Given the description of an element on the screen output the (x, y) to click on. 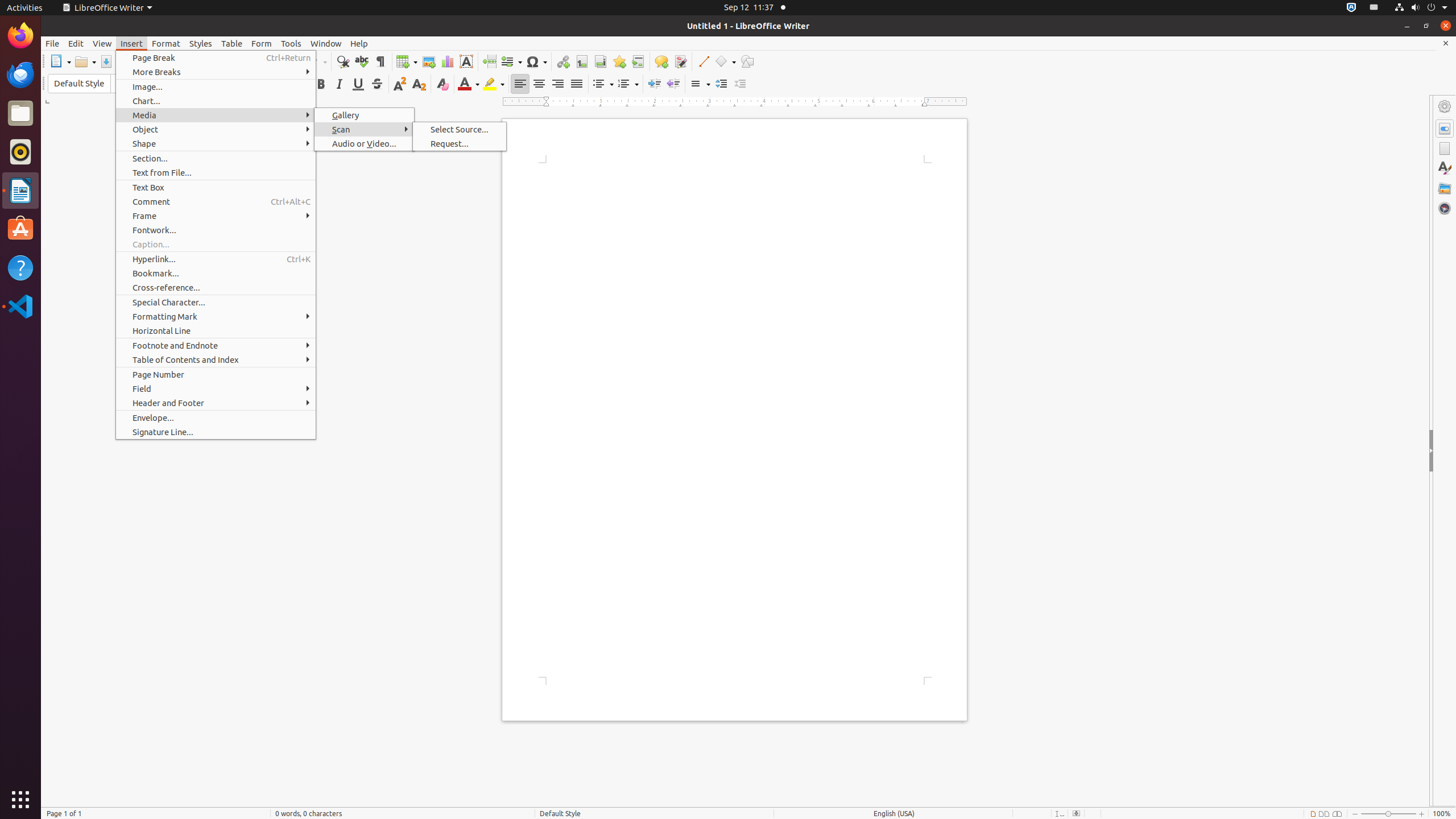
Navigator Element type: radio-button (1444, 208)
Fontwork... Element type: menu-item (215, 229)
Format Element type: menu (165, 43)
Help Element type: push-button (20, 267)
Draw Functions Element type: push-button (746, 61)
